Given the description of an element on the screen output the (x, y) to click on. 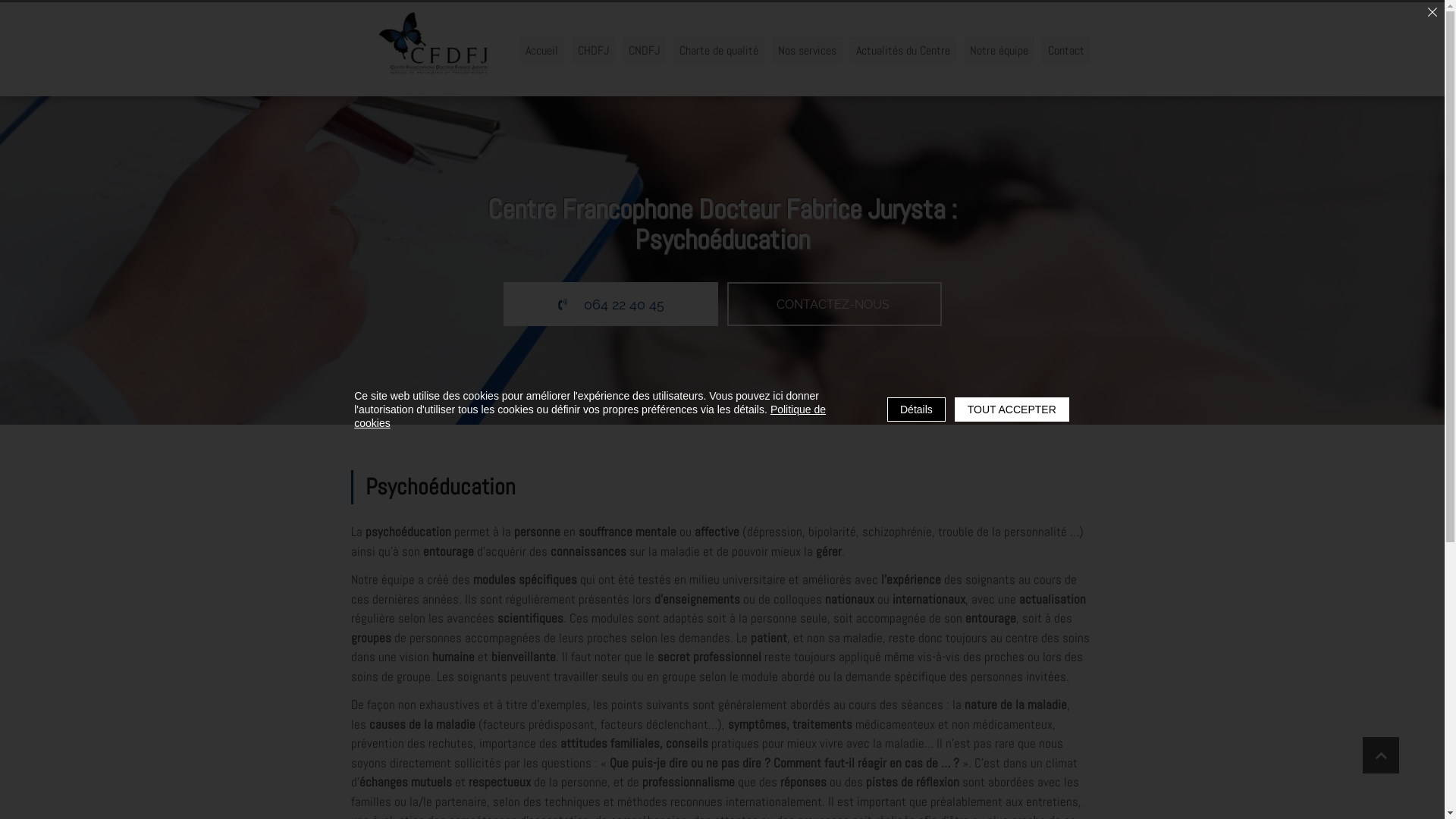
Politique de cookies Element type: text (589, 416)
CONTACTEZ-NOUS Element type: text (882, 274)
CNDFJ Element type: text (643, 49)
064 22 40 45 Element type: text (668, 274)
Contact Element type: text (1065, 49)
Accueil Element type: text (540, 49)
CHDFJ Element type: text (593, 49)
TOUT ACCEPTER Element type: text (1011, 409)
Nos services Element type: text (806, 49)
